Given the description of an element on the screen output the (x, y) to click on. 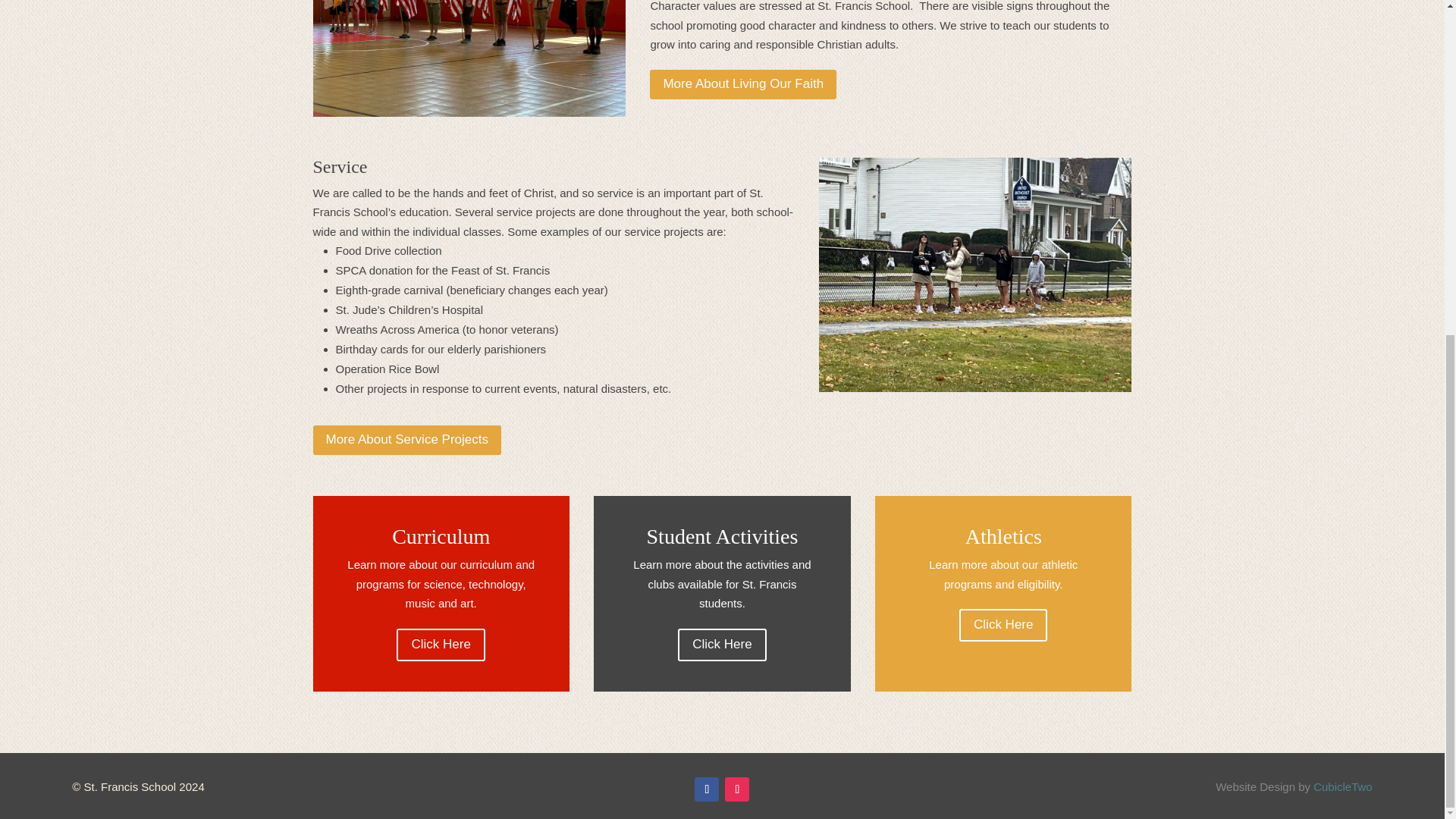
comfort bags (975, 275)
Follow on Facebook (706, 789)
flag ceremony (469, 58)
Follow on Instagram (737, 789)
